Given the description of an element on the screen output the (x, y) to click on. 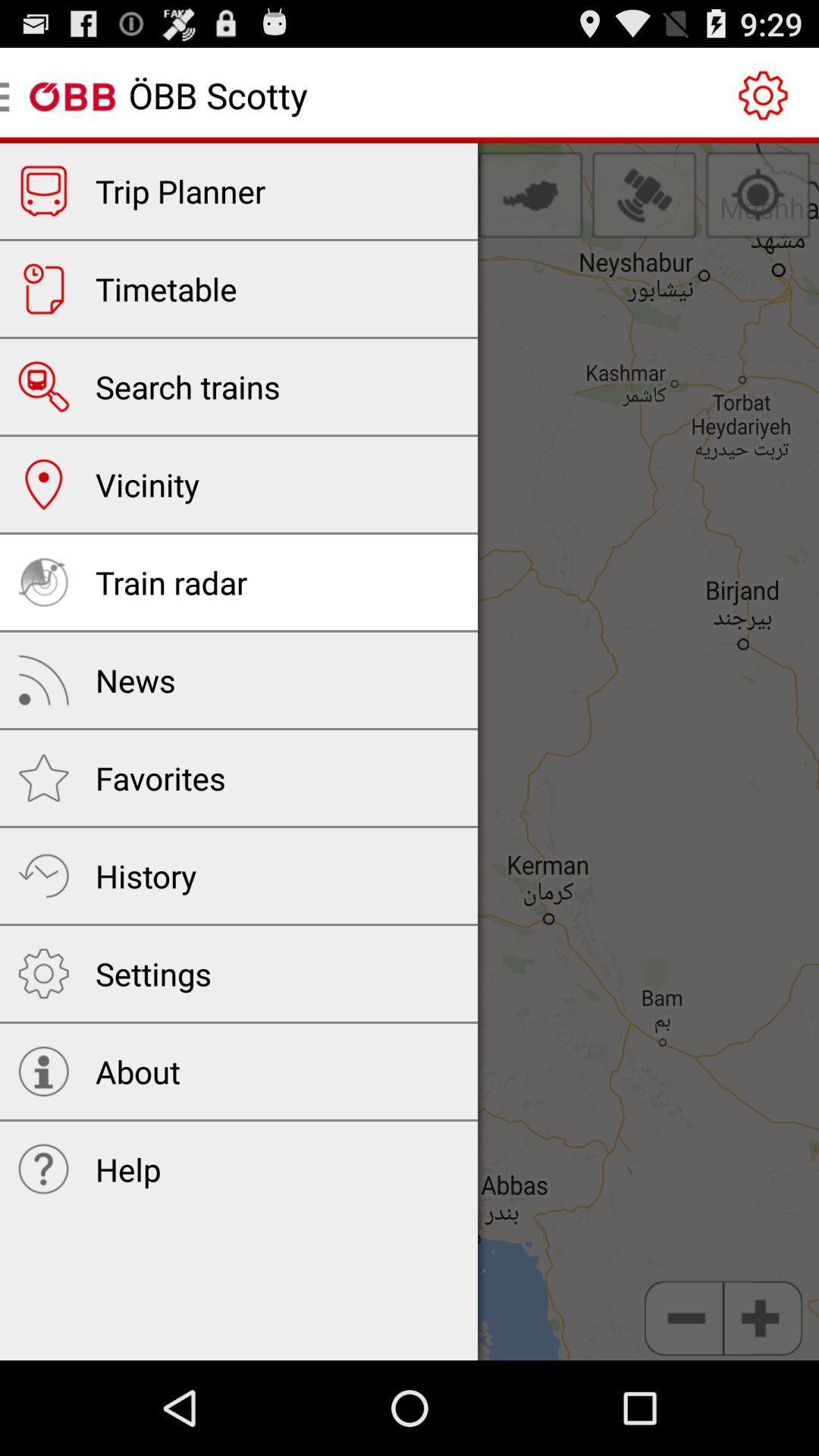
swipe until the favorites app (160, 777)
